Given the description of an element on the screen output the (x, y) to click on. 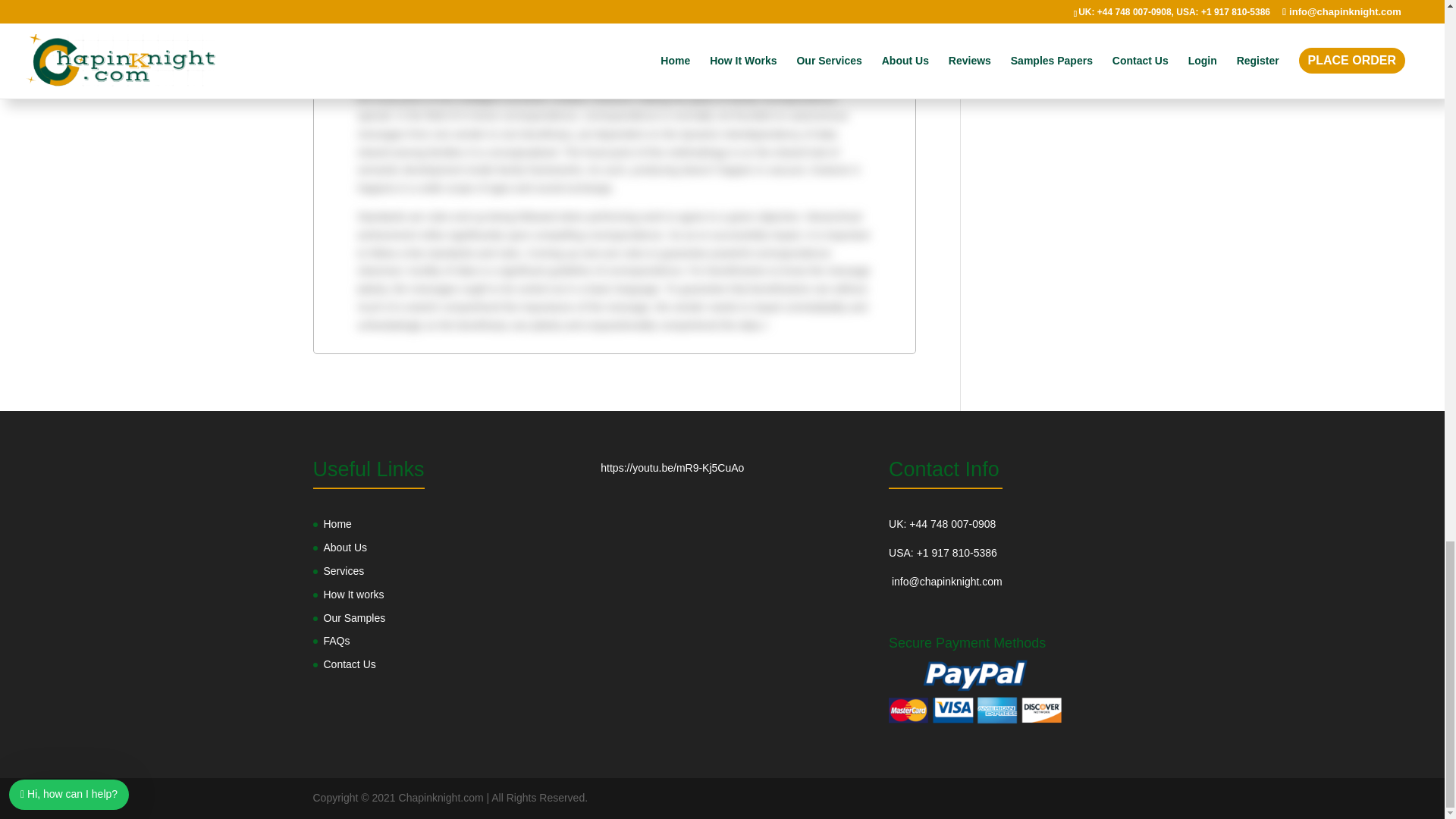
About Us (344, 547)
Secure Payment Methods (974, 692)
How It works (353, 594)
Services (343, 571)
Our Samples (354, 617)
Home (336, 523)
